Given the description of an element on the screen output the (x, y) to click on. 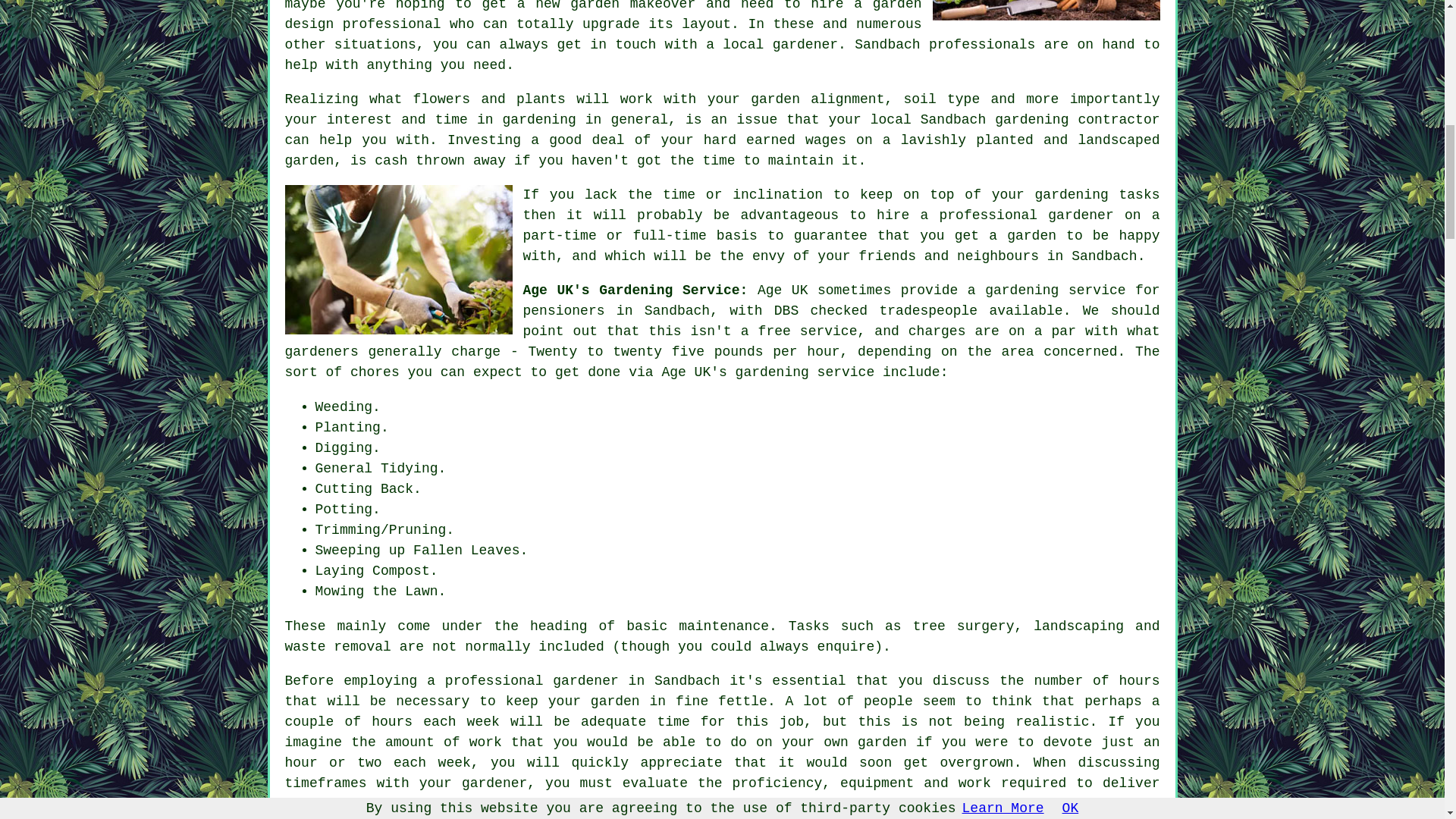
garden (1032, 235)
Gardeners Sandbach Cheshire (398, 259)
your garden (594, 701)
Gardener Sandbach (1046, 10)
